Given the description of an element on the screen output the (x, y) to click on. 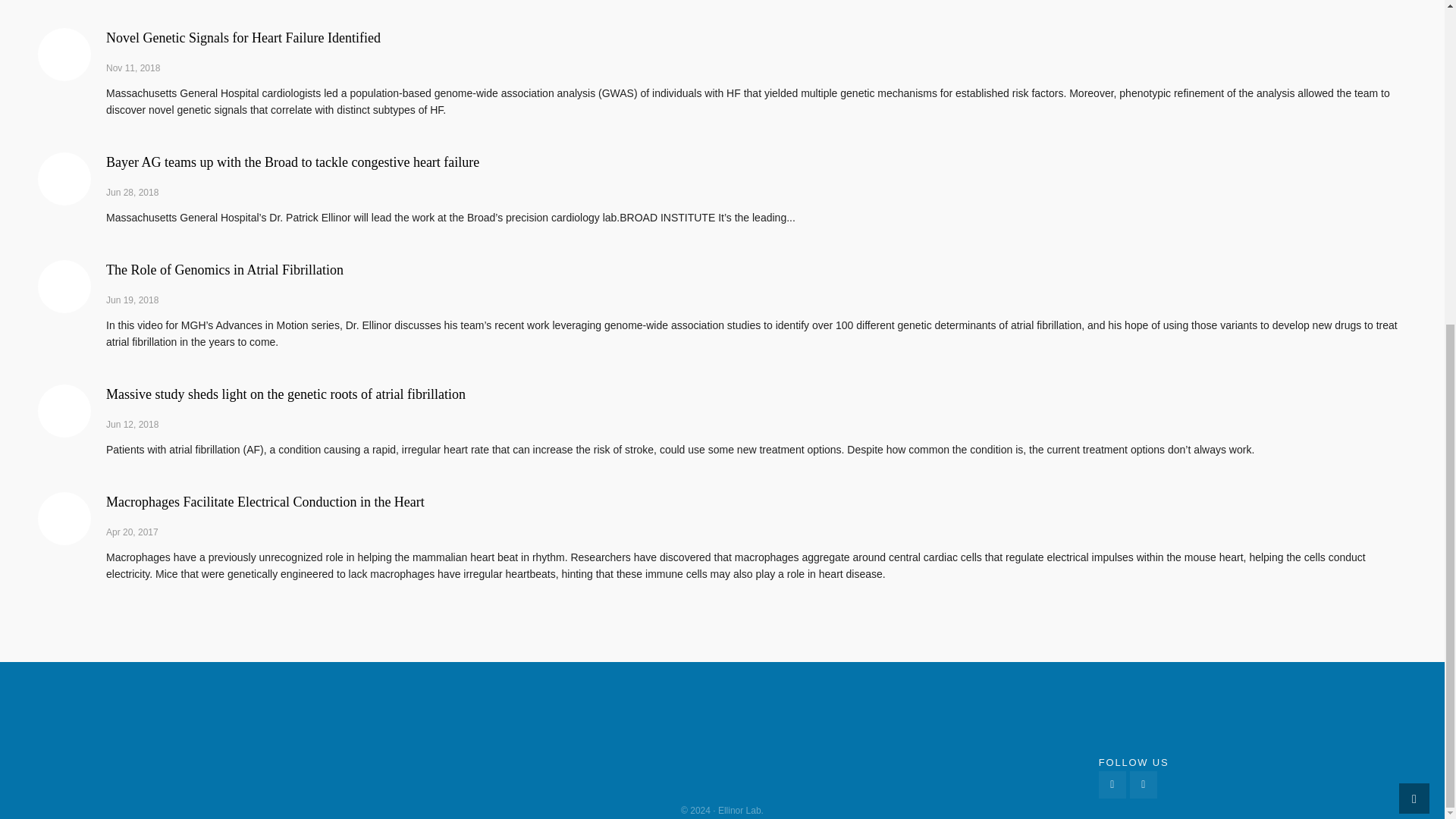
Novel Genetic Signals for Heart Failure Identified (243, 37)
Novel Genetic Signals for Heart Failure Identified (243, 37)
The Role of Genomics in Atrial Fibrillation (63, 286)
The Role of Genomics in Atrial Fibrillation (224, 269)
The Role of Genomics in Atrial Fibrillation (224, 269)
Novel Genetic Signals for Heart Failure Identified (63, 54)
